Given the description of an element on the screen output the (x, y) to click on. 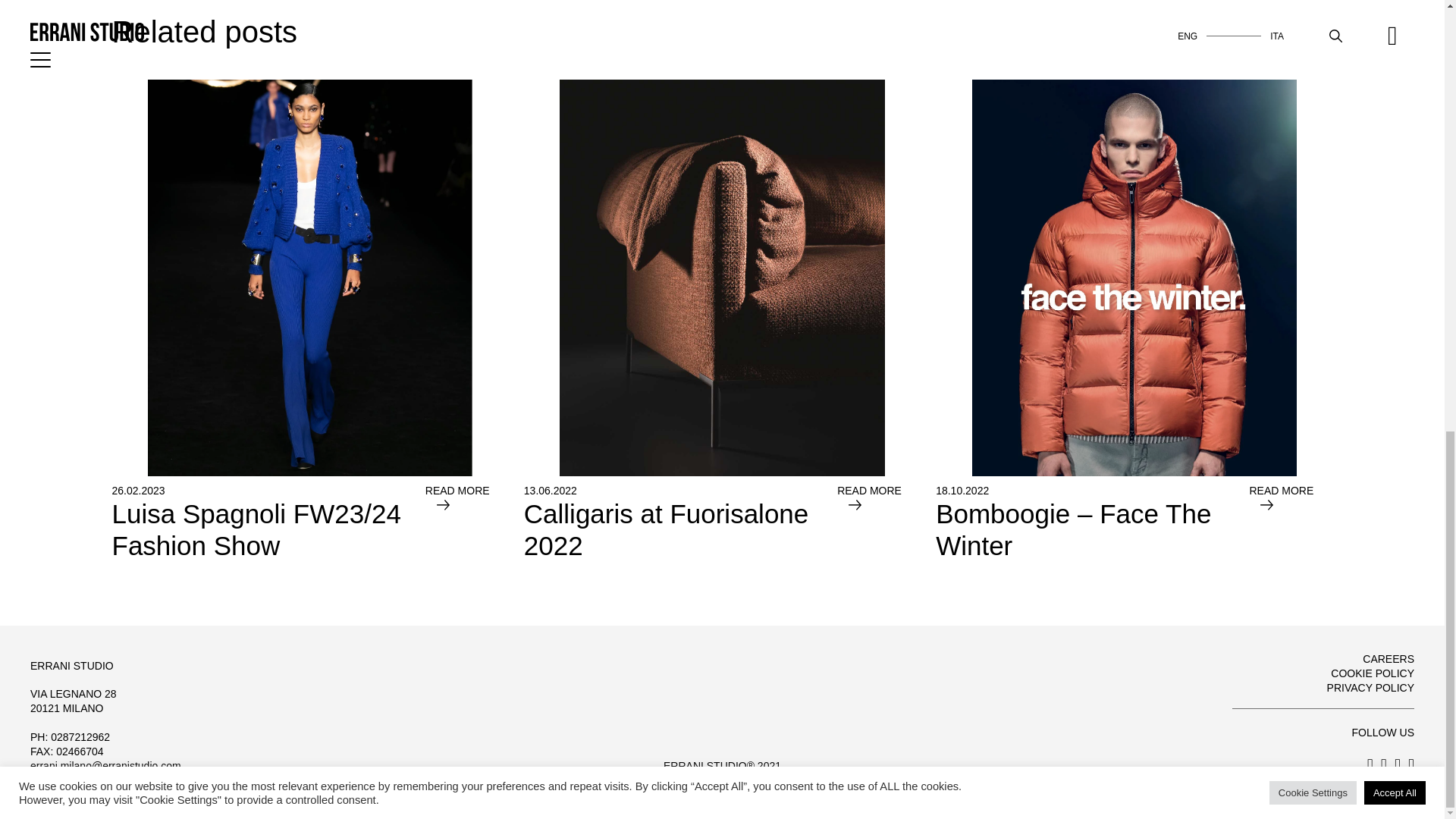
PRIVACY POLICY (1369, 687)
READ MORE (878, 522)
COOKIE POLICY (1371, 673)
CAREERS (1387, 658)
READ MORE (466, 522)
READ MORE (680, 522)
0287212962 (1290, 522)
